Given the description of an element on the screen output the (x, y) to click on. 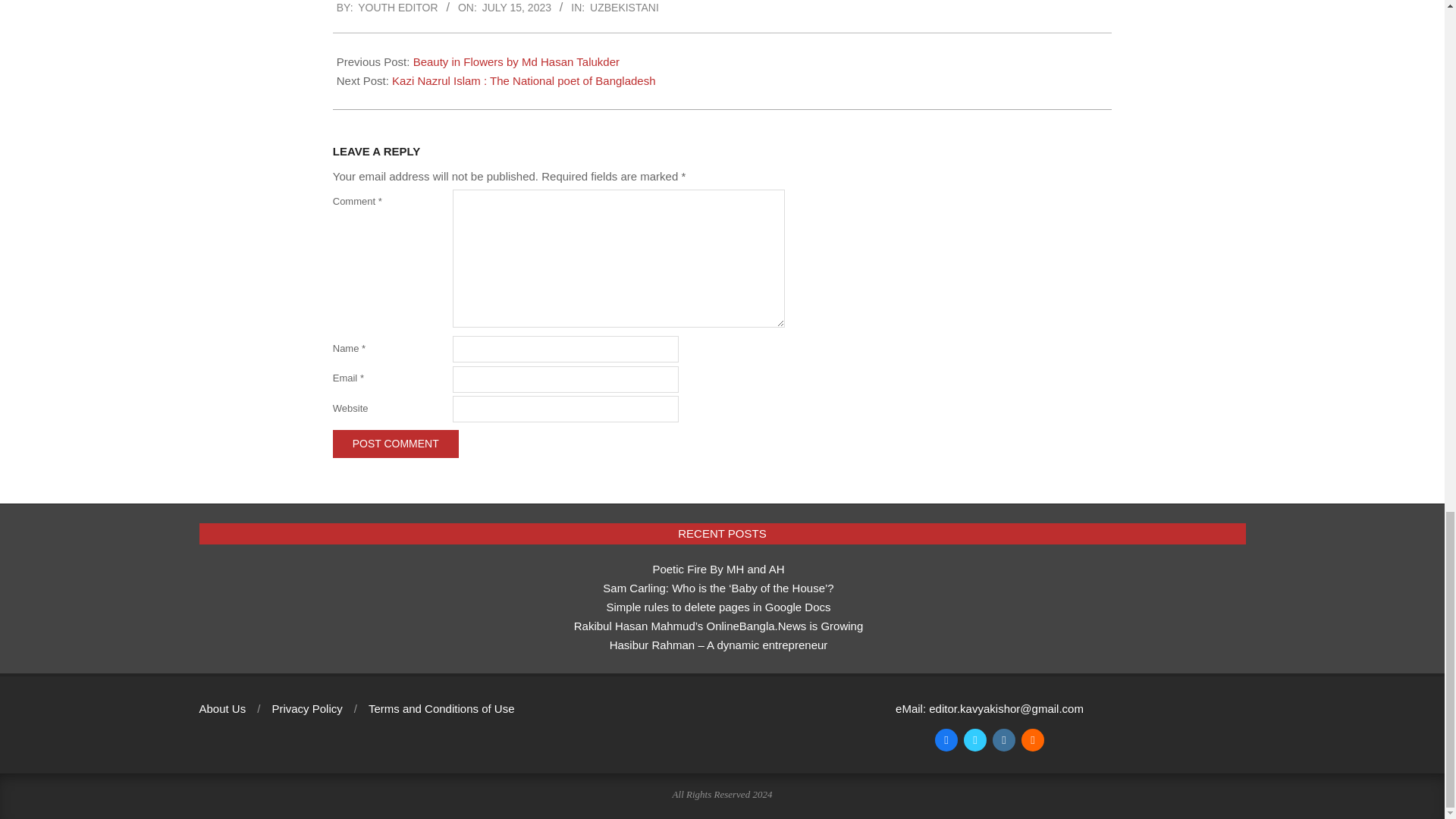
Post Comment (395, 443)
Saturday, July 15, 2023, 6:41 pm (516, 7)
Terms and Conditions of Use (441, 707)
UZBEKISTANI (624, 7)
About Us (222, 707)
Kazi Nazrul Islam : The National poet of Bangladesh (523, 80)
Simple rules to delete pages in Google Docs (717, 606)
Posts by Youth Editor (398, 7)
Privacy Policy (306, 707)
Post Comment (395, 443)
Poetic Fire By MH and AH (718, 568)
Beauty in Flowers by Md Hasan Talukder (516, 61)
YOUTH EDITOR (398, 7)
